Given the description of an element on the screen output the (x, y) to click on. 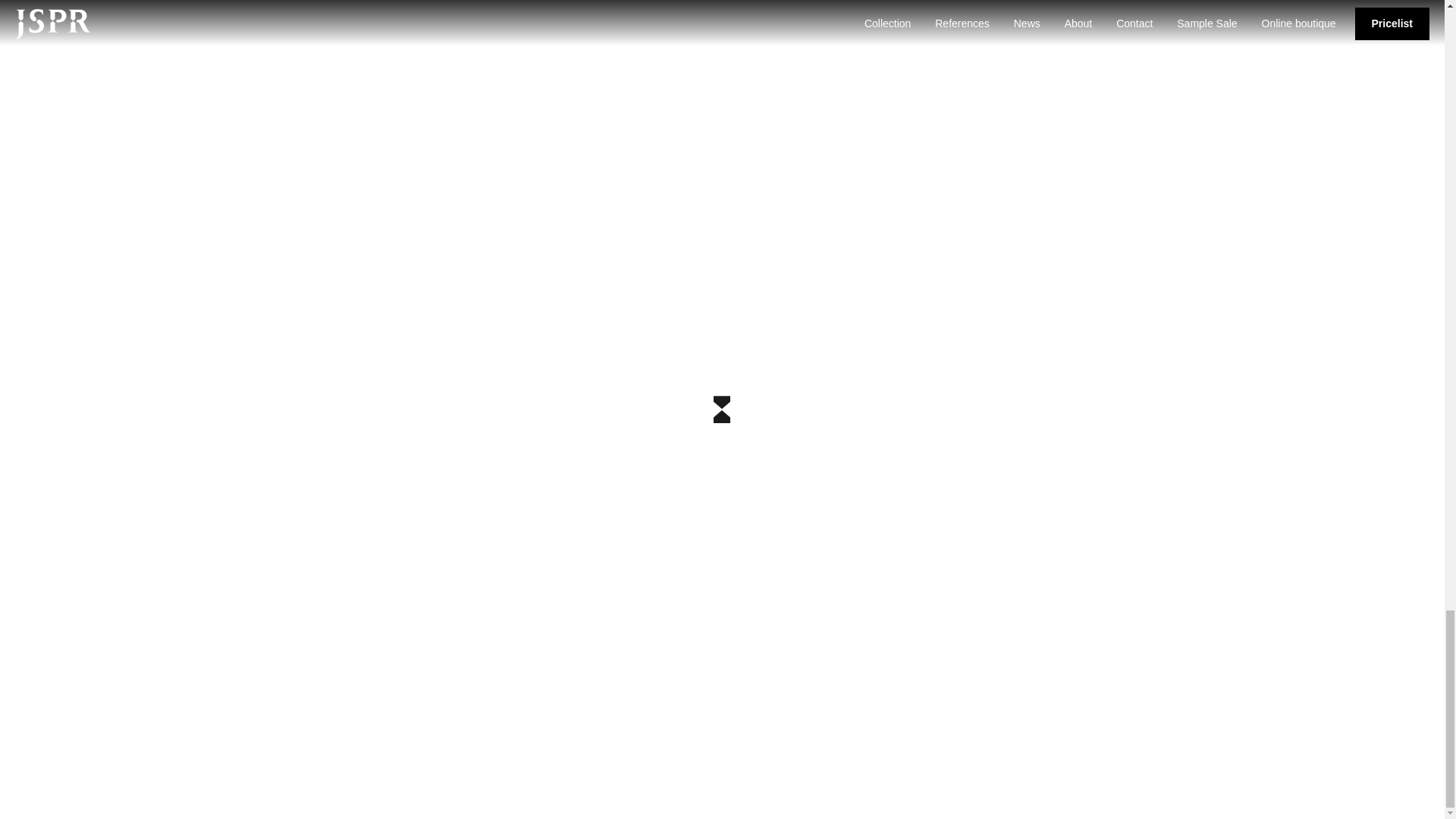
Request our price-list (956, 537)
Contact (518, 714)
Subscribe to our newsletter (486, 537)
About (513, 695)
Terms and conditions (797, 714)
Search (432, 695)
Press (513, 733)
Privacy declaration (791, 695)
